Given the description of an element on the screen output the (x, y) to click on. 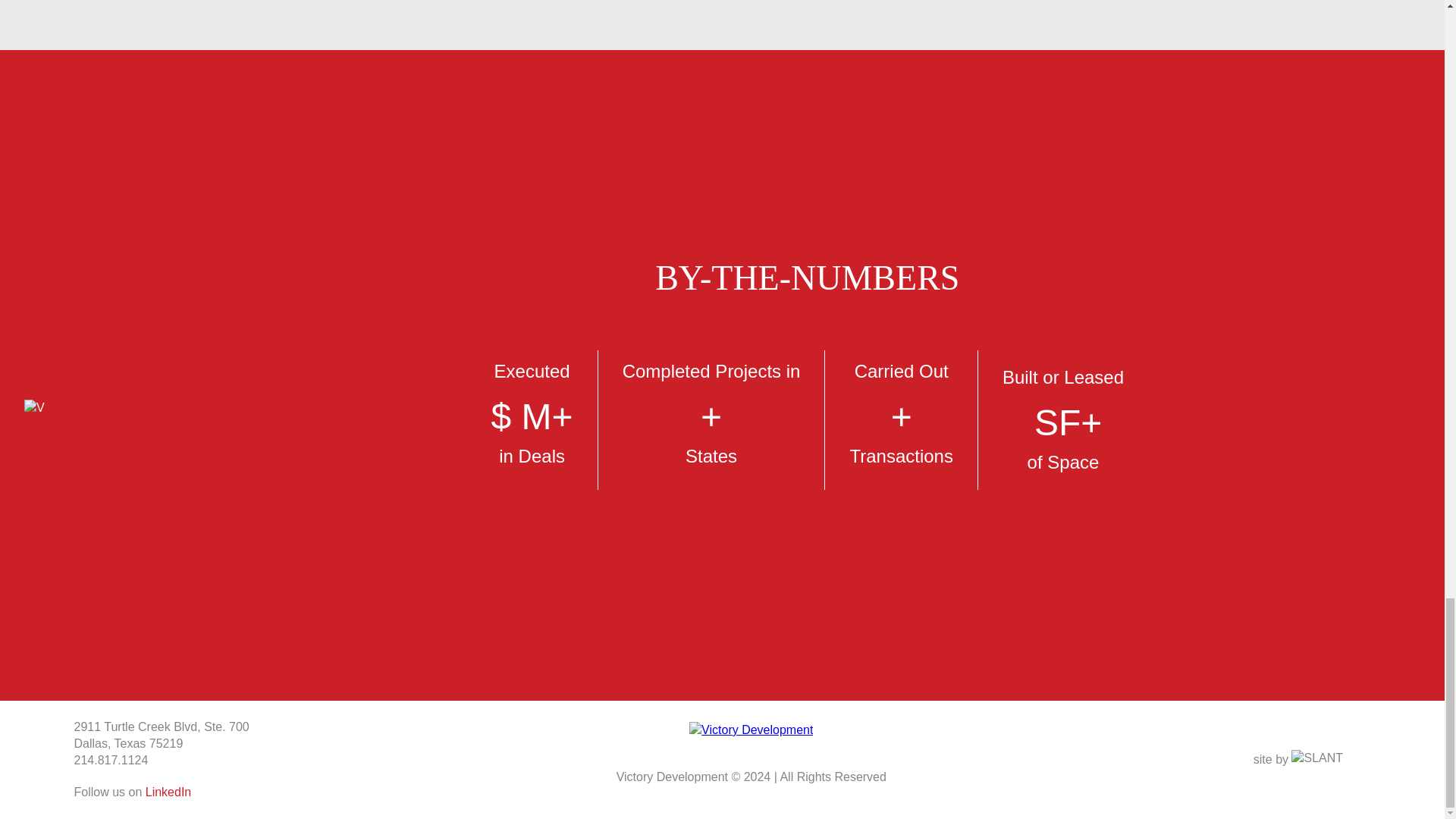
214.817.1124 (111, 759)
LinkedIn (168, 791)
site by  (1312, 759)
